Given the description of an element on the screen output the (x, y) to click on. 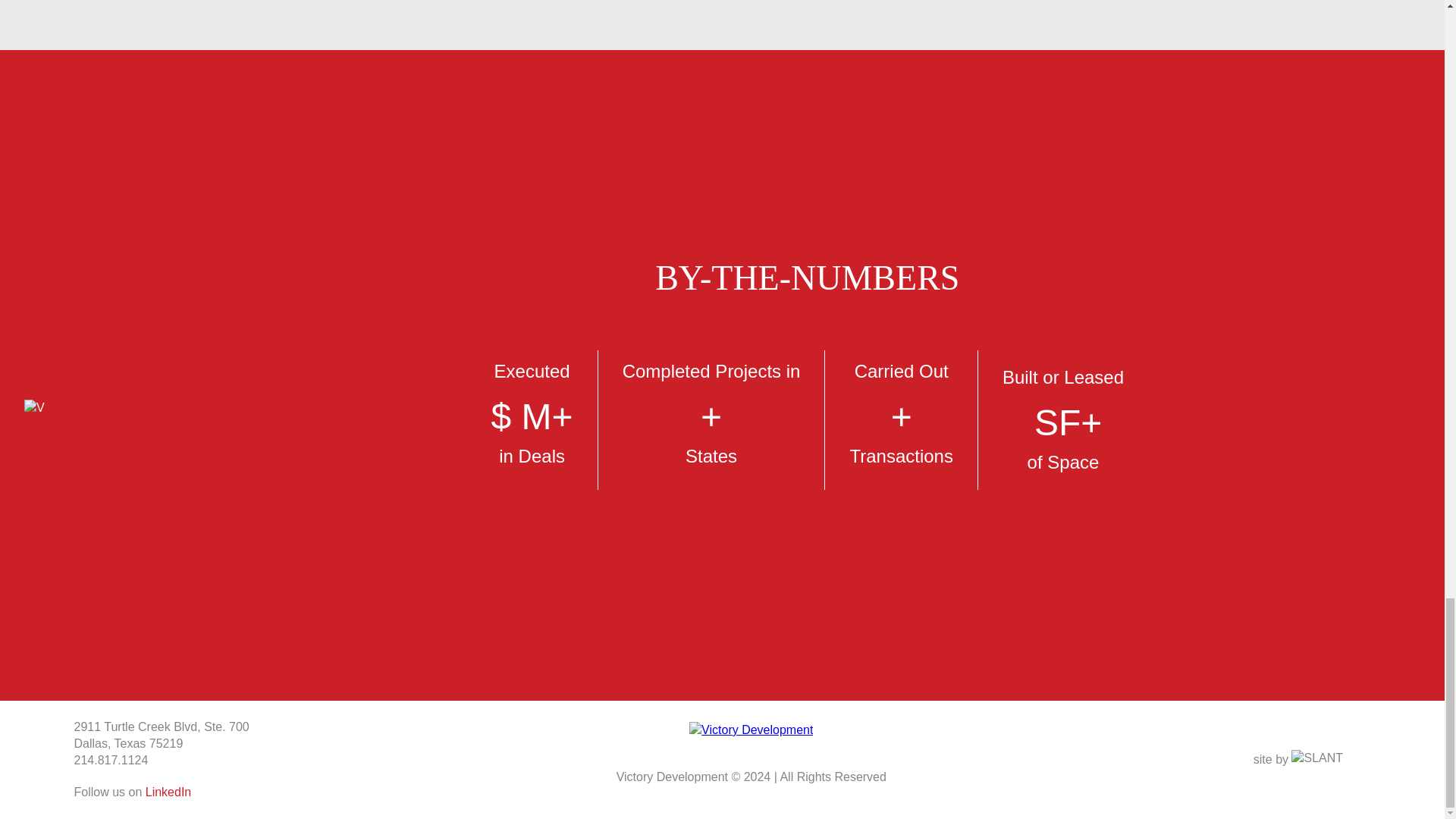
214.817.1124 (111, 759)
LinkedIn (168, 791)
site by  (1312, 759)
